Given the description of an element on the screen output the (x, y) to click on. 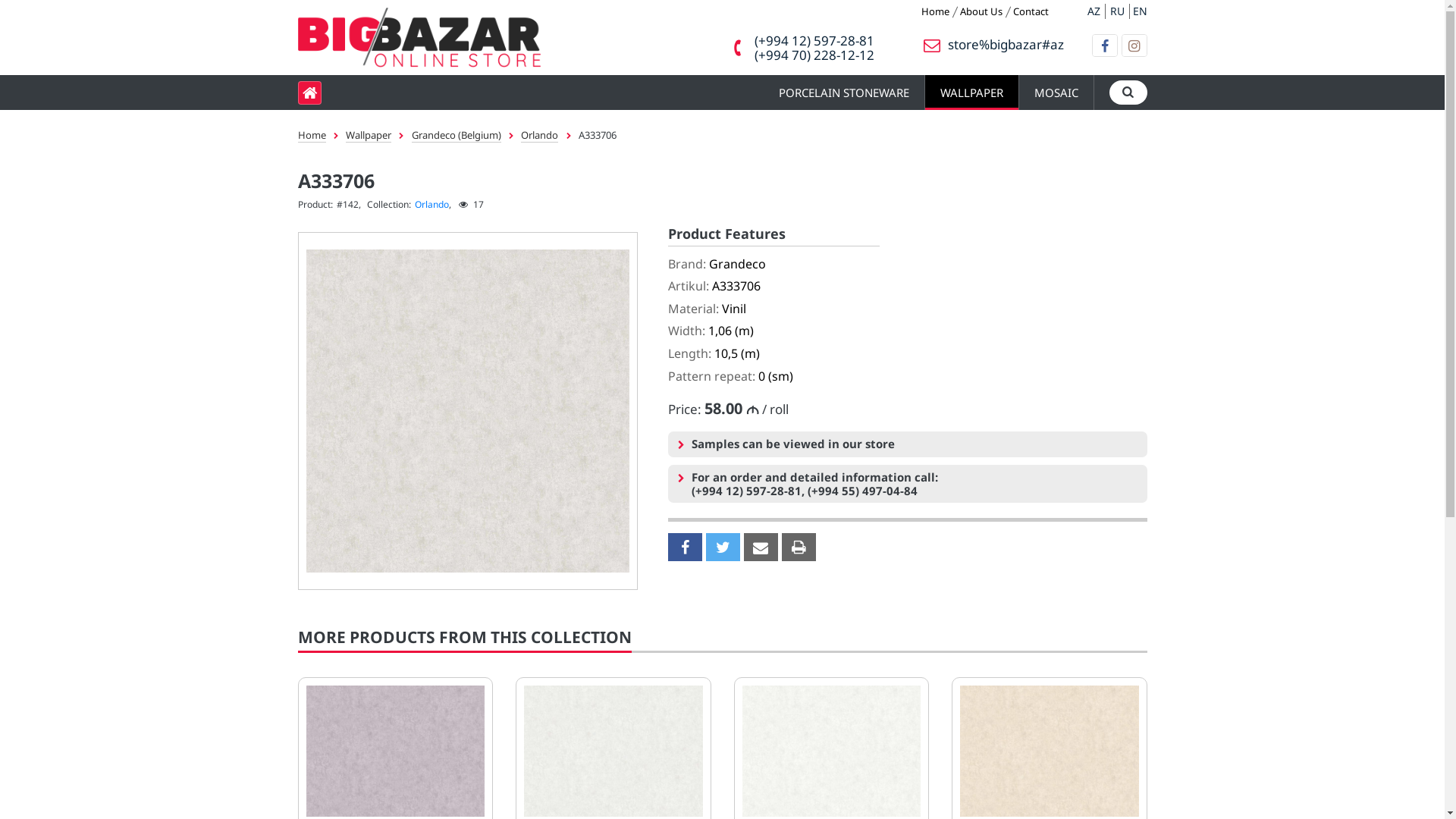
MOSAIC Element type: text (1056, 92)
Grandeco (Belgium) Element type: text (456, 135)
EN Element type: text (1139, 10)
Wallpaper Element type: text (368, 135)
Print Element type: hover (798, 546)
Orlando Element type: text (431, 203)
Search Element type: hover (1127, 92)
RU Element type: text (1117, 10)
AZ Element type: text (1093, 10)
Contact Element type: text (1030, 11)
Instagram Element type: hover (1134, 45)
Home Element type: text (934, 11)
BigBazar Element type: hover (418, 56)
Facebook Element type: hover (1104, 45)
Home Element type: text (311, 135)
About Us Element type: text (981, 11)
PORCELAIN STONEWARE Element type: text (842, 92)
WALLPAPER Element type: text (971, 92)
Orlando Element type: text (539, 135)
